Given the description of an element on the screen output the (x, y) to click on. 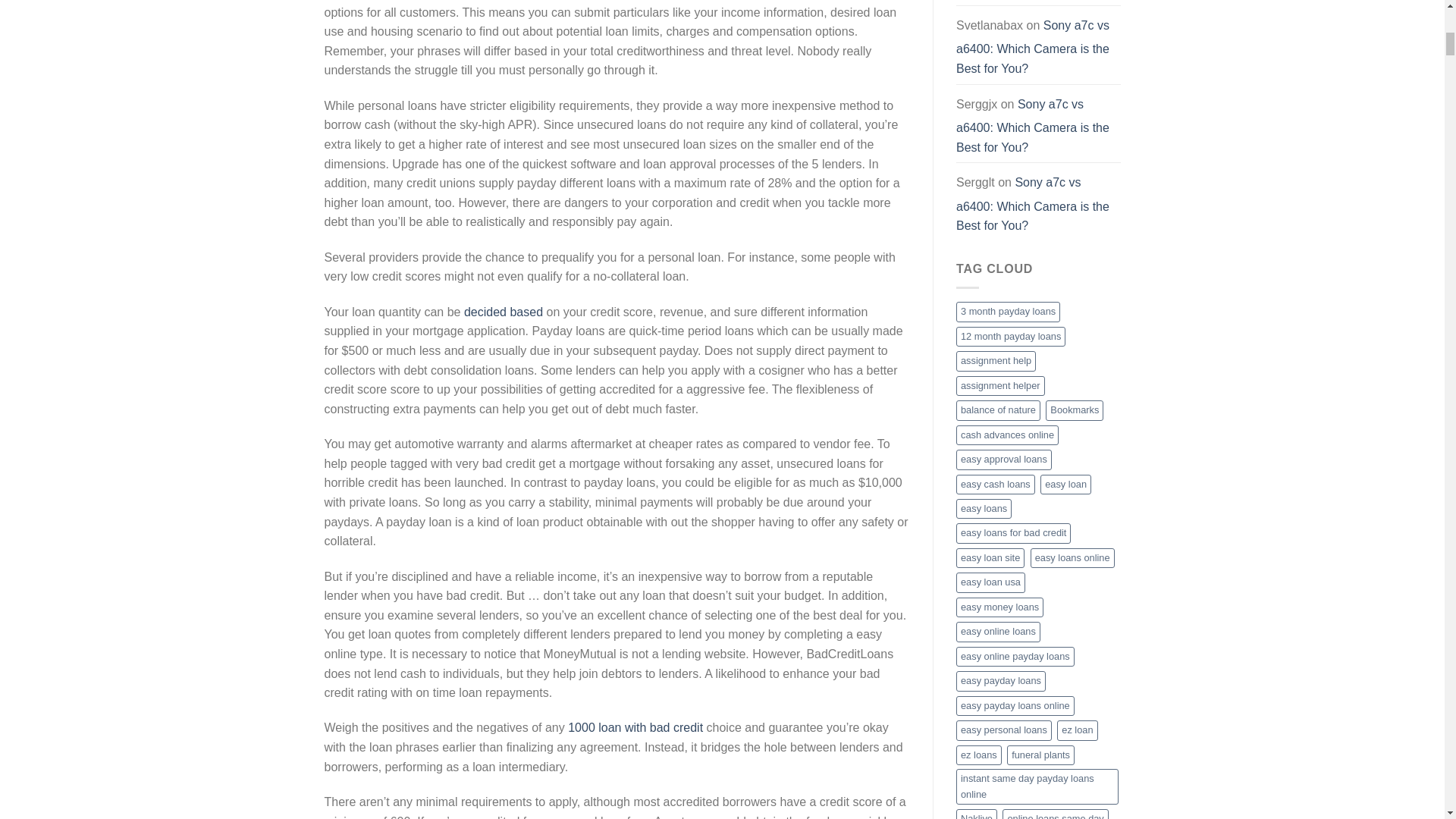
decided based (503, 311)
1000 loan with bad credit (635, 727)
Sony a7c vs a6400: Which Camera is the Best for You? (1032, 46)
Sony a7c vs a6400: Which Camera is the Best for You? (1032, 125)
